Given the description of an element on the screen output the (x, y) to click on. 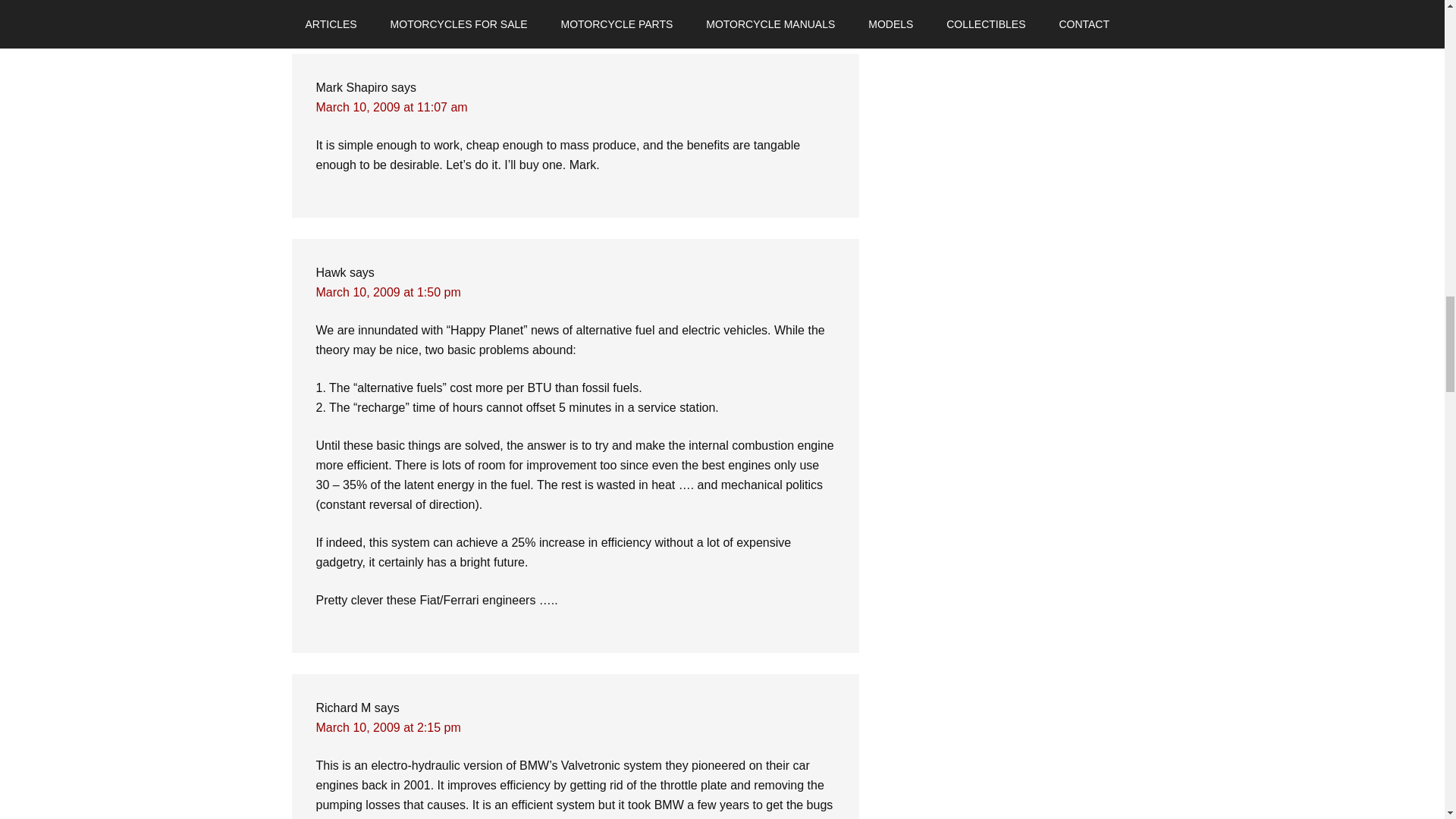
March 10, 2009 at 2:15 pm (387, 727)
March 10, 2009 at 11:07 am (391, 106)
March 10, 2009 at 1:50 pm (387, 291)
